Given the description of an element on the screen output the (x, y) to click on. 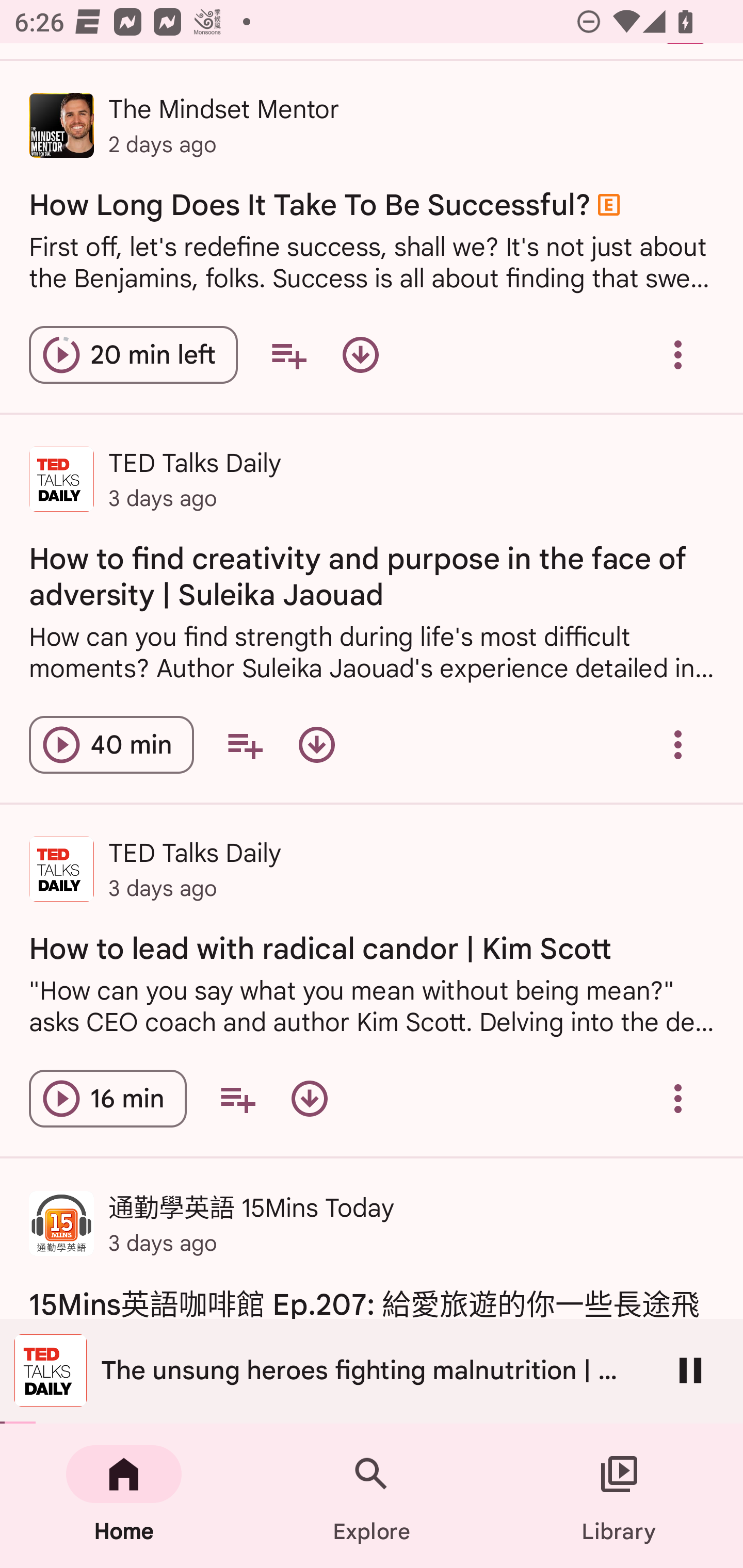
Add to your queue (288, 355)
Download episode (360, 355)
Overflow menu (677, 355)
Add to your queue (244, 744)
Download episode (316, 744)
Overflow menu (677, 744)
Add to your queue (237, 1098)
Download episode (309, 1098)
Overflow menu (677, 1098)
Pause (690, 1370)
Explore (371, 1495)
Library (619, 1495)
